Given the description of an element on the screen output the (x, y) to click on. 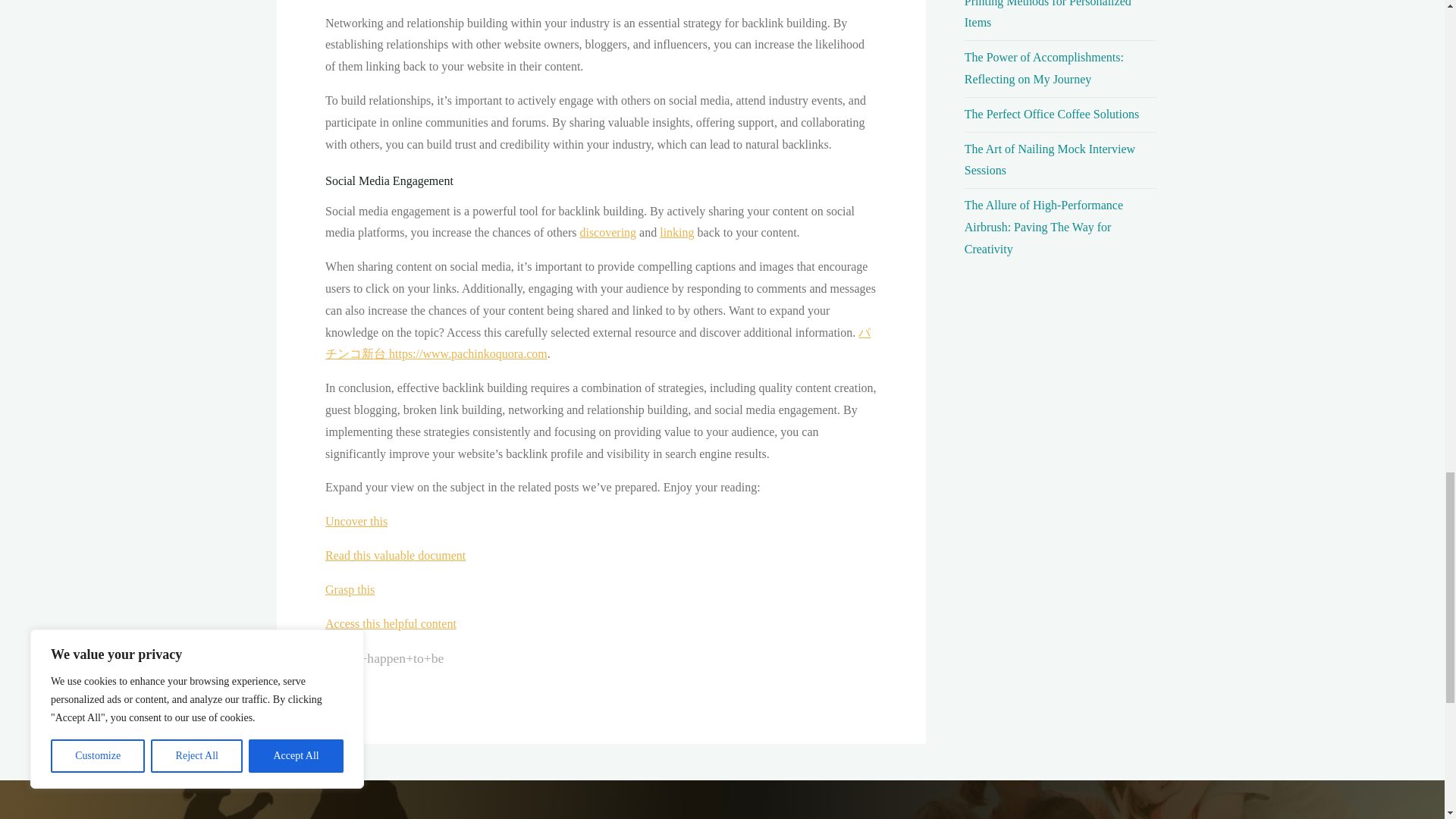
Grasp this (349, 589)
Uncover this (355, 521)
discovering (607, 232)
linking (676, 232)
Read this valuable document (394, 554)
Access this helpful content (389, 623)
